Given the description of an element on the screen output the (x, y) to click on. 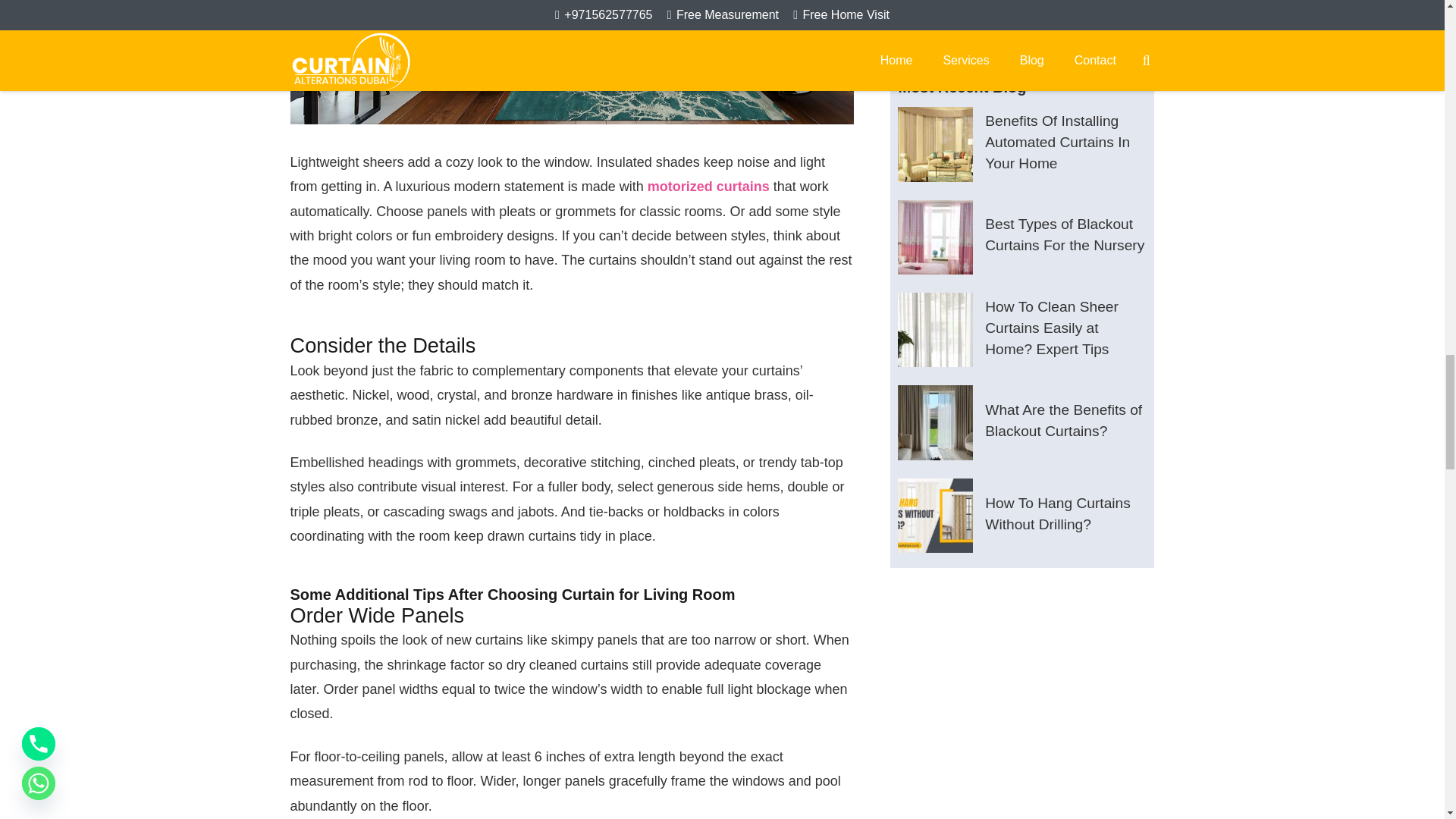
motorized curtains (708, 186)
